Given the description of an element on the screen output the (x, y) to click on. 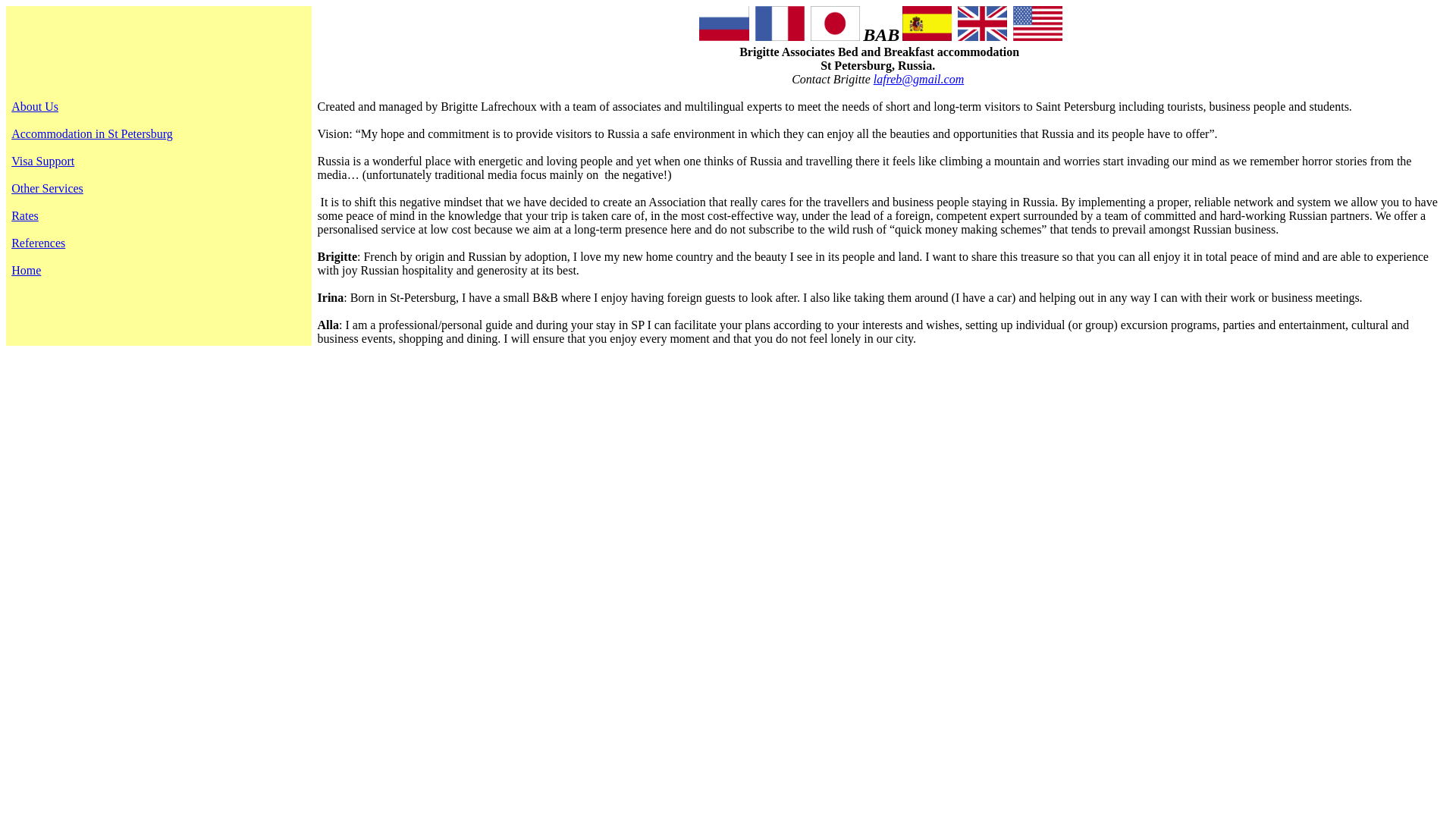
Rates (25, 222)
References (38, 249)
Other Services (46, 194)
Home (25, 276)
Accommodation in St Petersburg (92, 133)
About Us (34, 106)
Visa Support (42, 167)
